Given the description of an element on the screen output the (x, y) to click on. 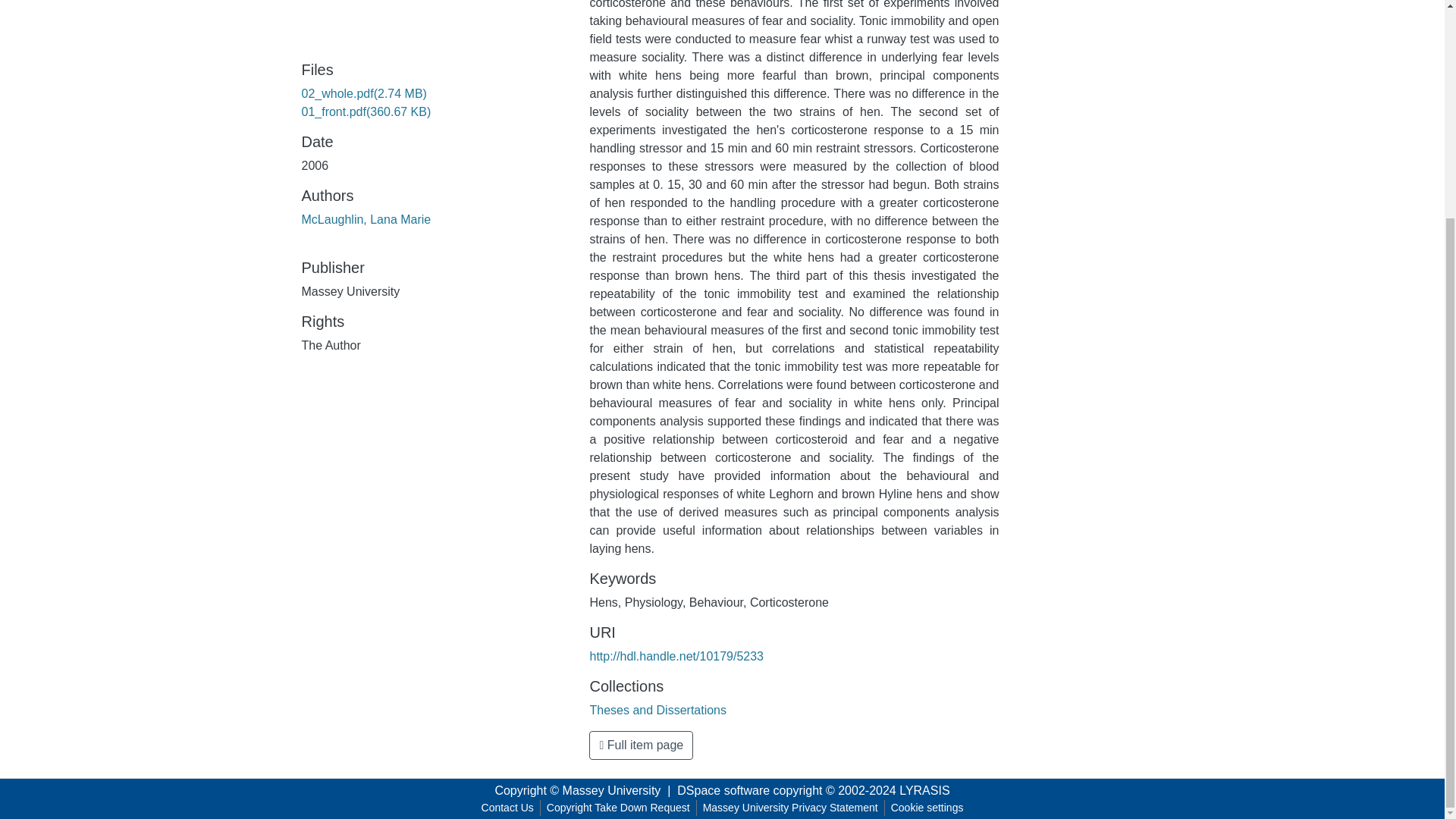
DSpace software (723, 789)
Contact Us (508, 807)
Theses and Dissertations (657, 709)
LYRASIS (924, 789)
Full item page (641, 745)
McLaughlin, Lana Marie (365, 219)
